Given the description of an element on the screen output the (x, y) to click on. 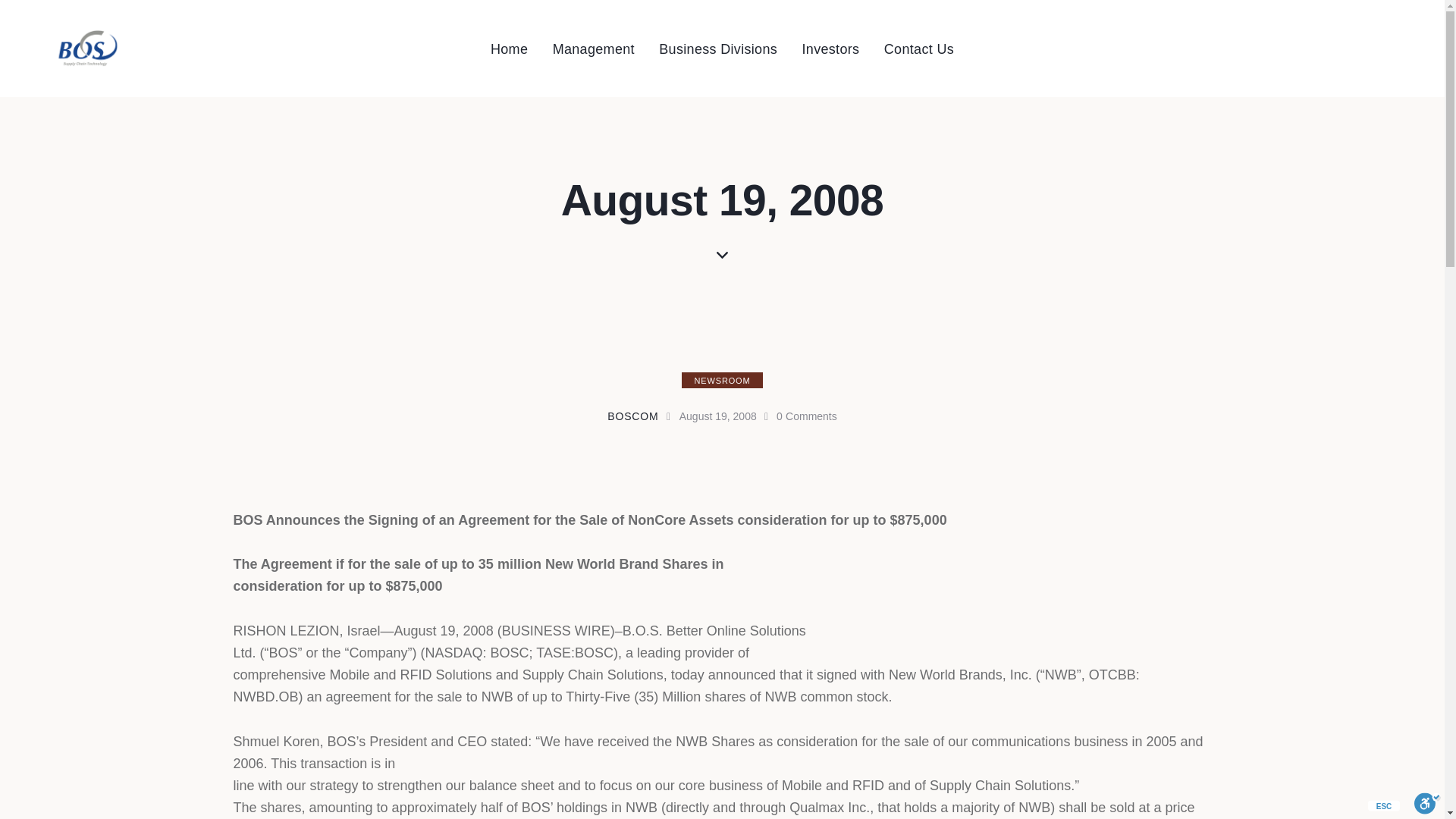
Home (509, 50)
Management (593, 50)
Business Divisions (717, 50)
Investors (829, 50)
Contact Us (919, 50)
